Given the description of an element on the screen output the (x, y) to click on. 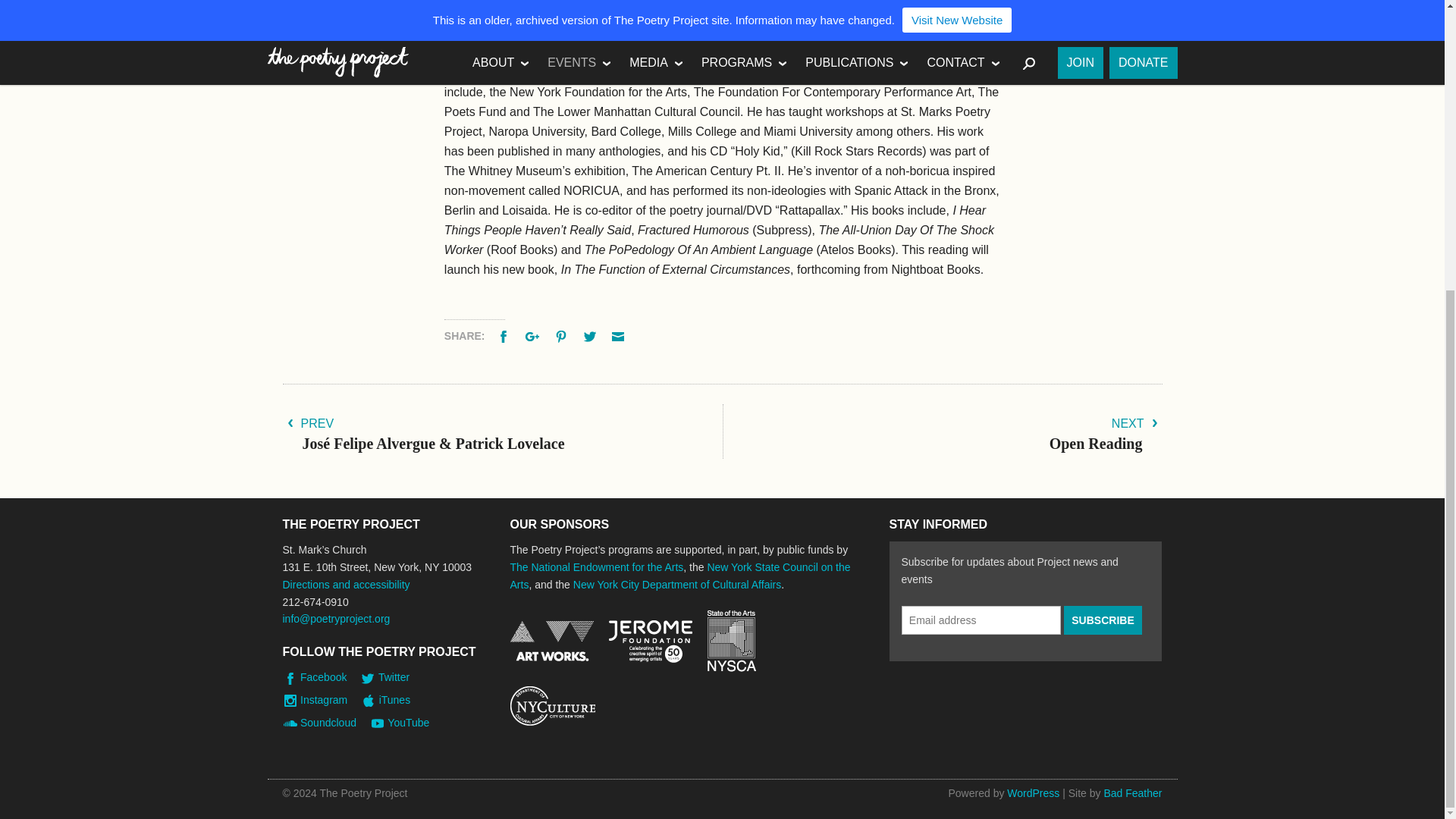
Facebook (504, 336)
Subscribe (1102, 620)
Tweet (590, 336)
Pinterest (562, 336)
Email (619, 336)
Facebook (504, 336)
